Given the description of an element on the screen output the (x, y) to click on. 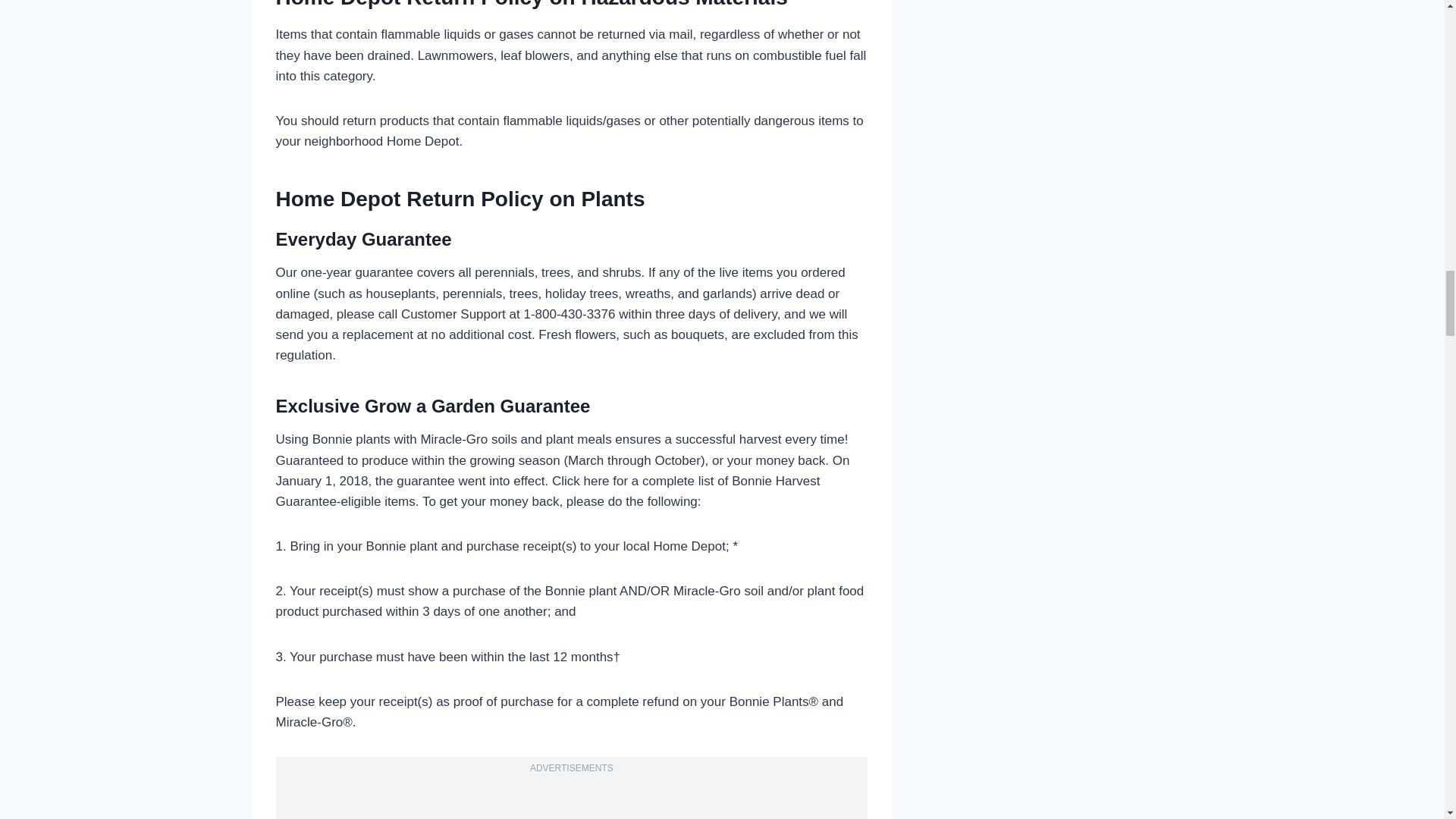
ADVERTISEMENTS (570, 767)
